Given the description of an element on the screen output the (x, y) to click on. 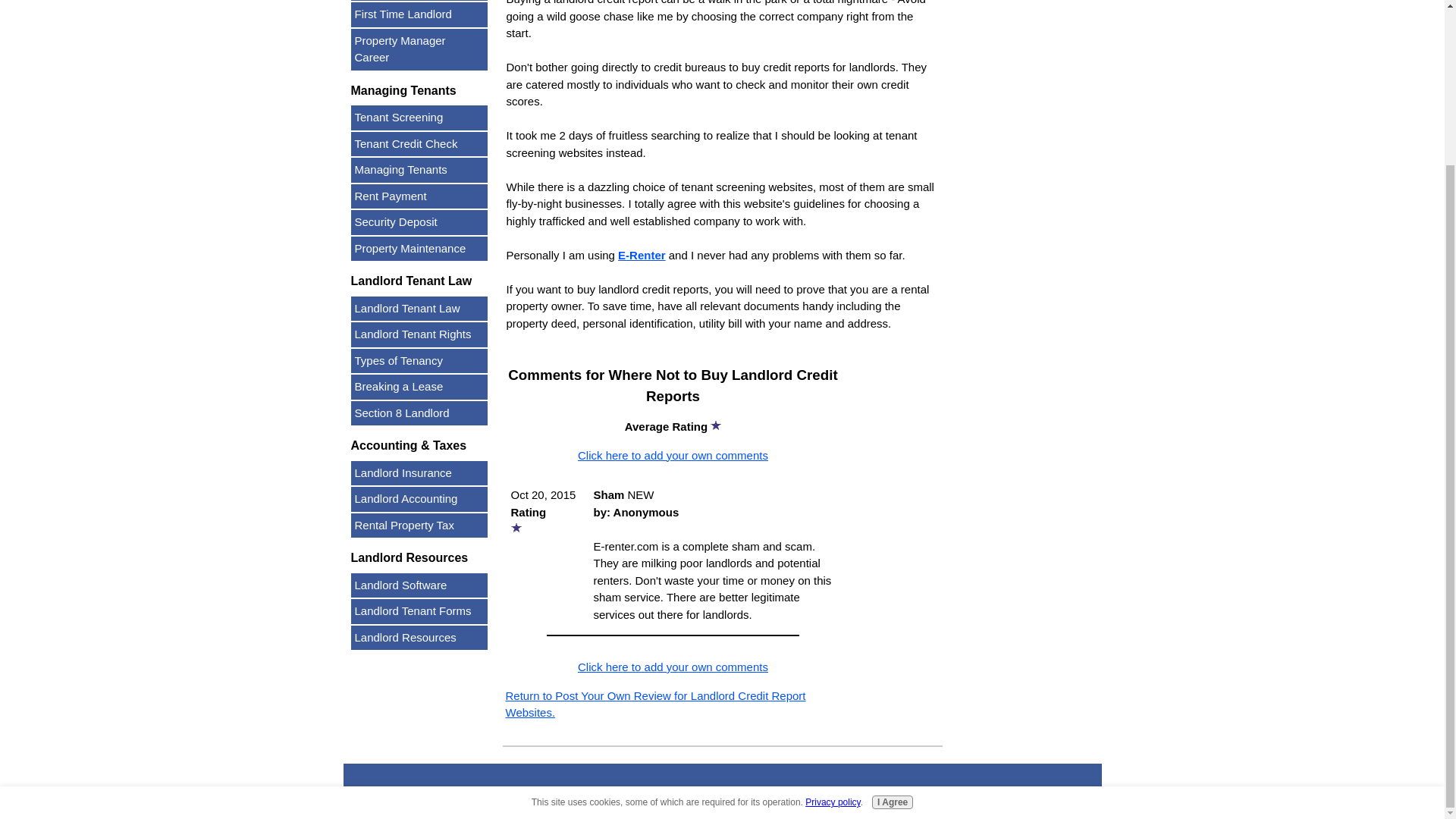
Click here to add your own comments (673, 666)
Rent Payment (418, 196)
Landlord Tenant Law (418, 308)
Disclaimer (815, 790)
Security Deposit (418, 222)
Site Map (442, 790)
Click here to add your own comments (673, 454)
Property Manager Career (418, 48)
E-Renter (641, 254)
Tenant Screening (418, 117)
Contact Us (629, 790)
Types of Tenancy (418, 360)
Section 8 Landlord (418, 413)
Financing Properties (418, 0)
First Time Landlord (418, 14)
